Given the description of an element on the screen output the (x, y) to click on. 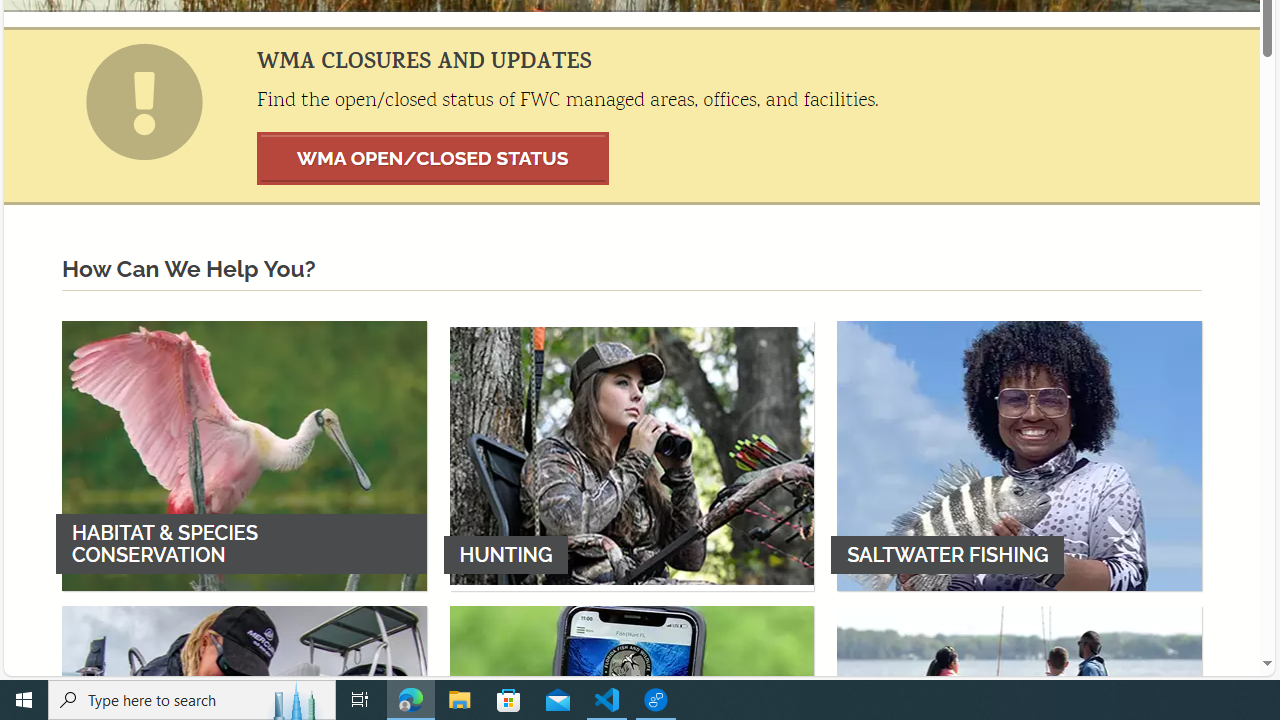
SALTWATER FISHING (1019, 455)
HUNTING (632, 455)
WMA OPEN/CLOSED STATUS (433, 158)
HABITAT & SPECIES CONSERVATION (244, 455)
